Given the description of an element on the screen output the (x, y) to click on. 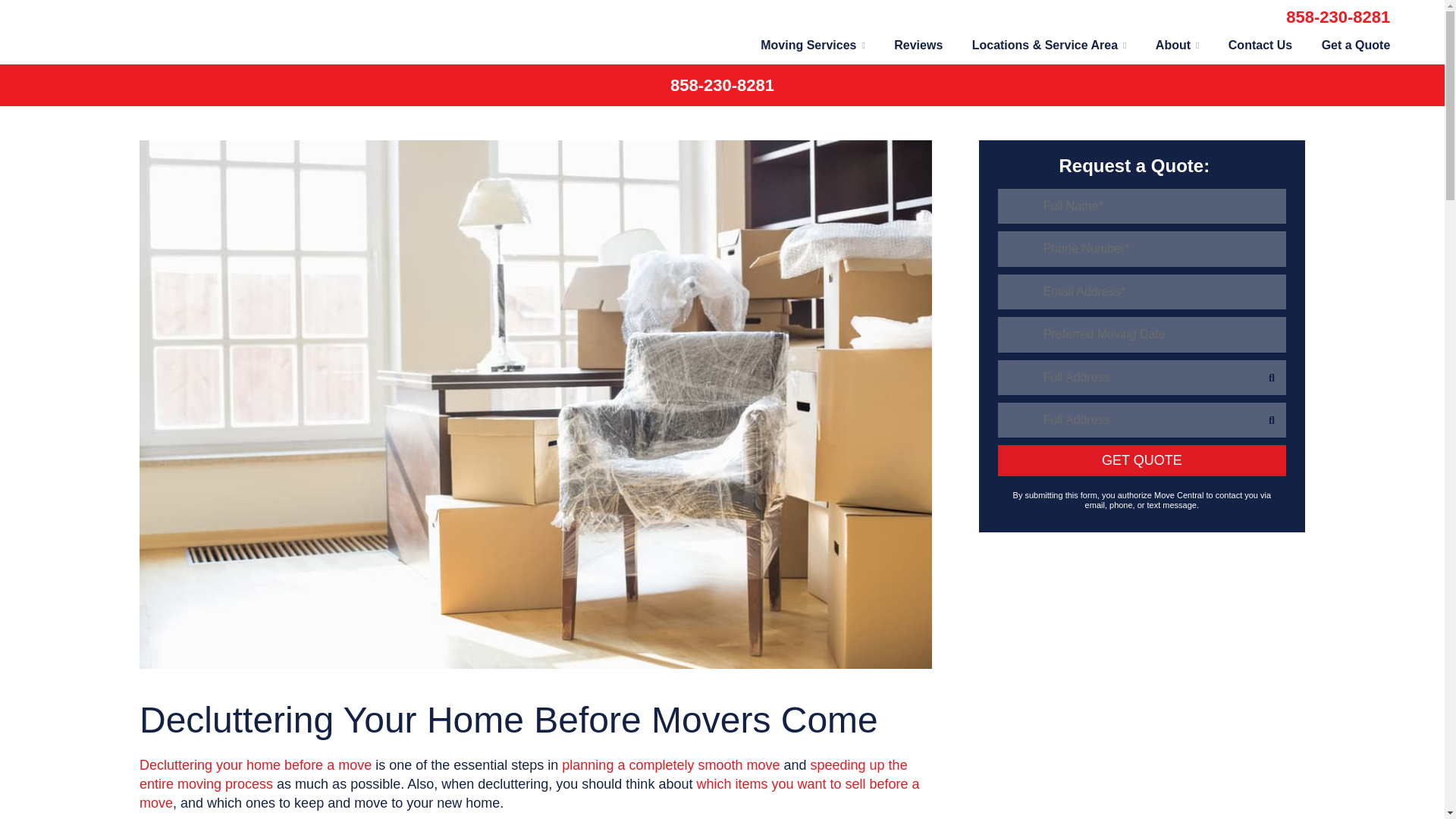
GET QUOTE (1141, 460)
